Given the description of an element on the screen output the (x, y) to click on. 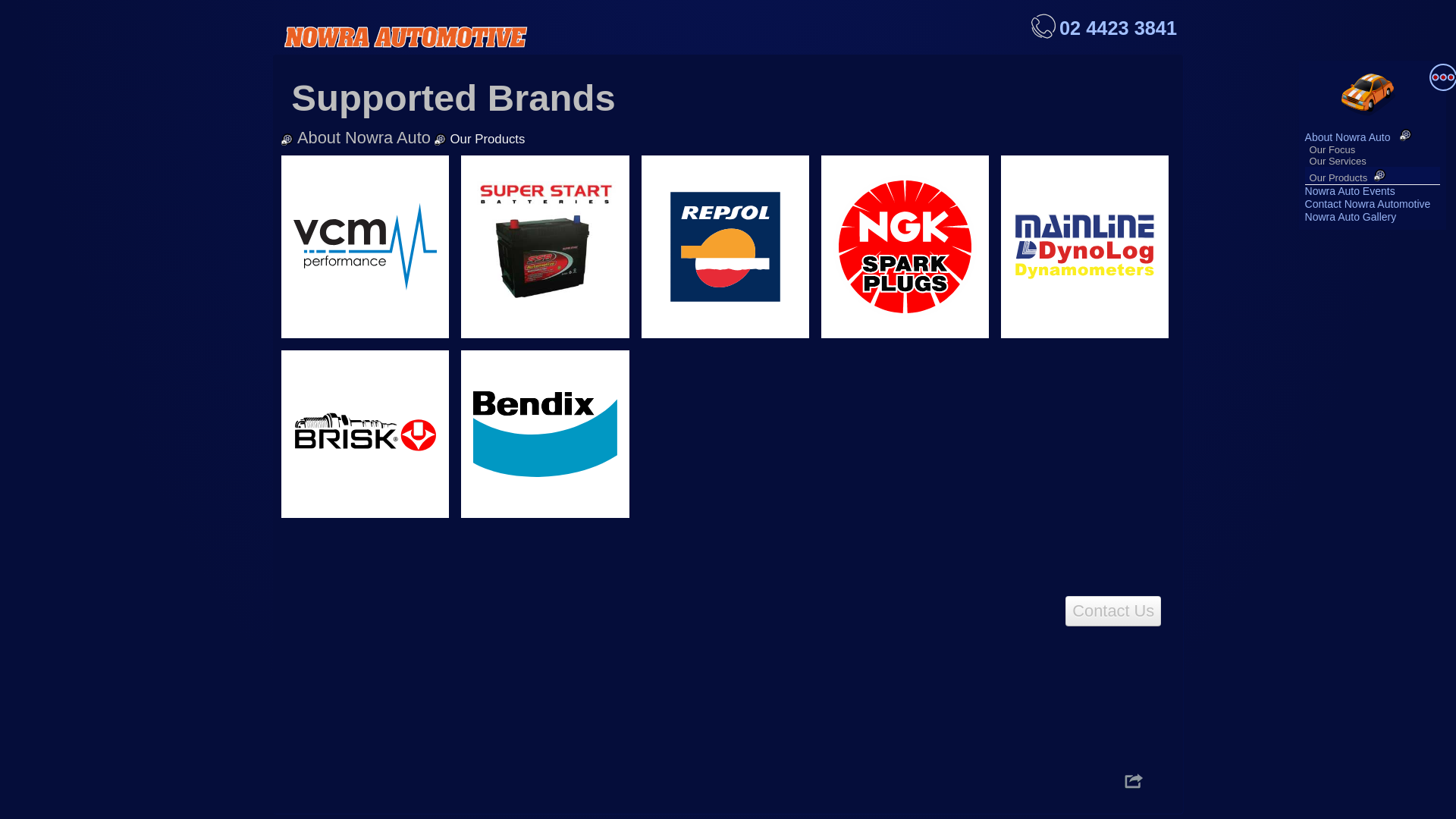
Nowra Auto Events Element type: text (1350, 191)
Our Services Element type: text (1337, 160)
Nowra Auto Gallery Element type: text (1350, 216)
About Nowra Auto Element type: text (363, 137)
About Nowra Auto Element type: text (1362, 137)
Contact Us Element type: text (1113, 611)
\ Home Element type: hover (1372, 93)
Our Products Element type: text (1338, 177)
btn Element type: text (1133, 780)
Contact Nowra Automotive Element type: text (1367, 203)
Our Focus Element type: text (1332, 149)
